Given the description of an element on the screen output the (x, y) to click on. 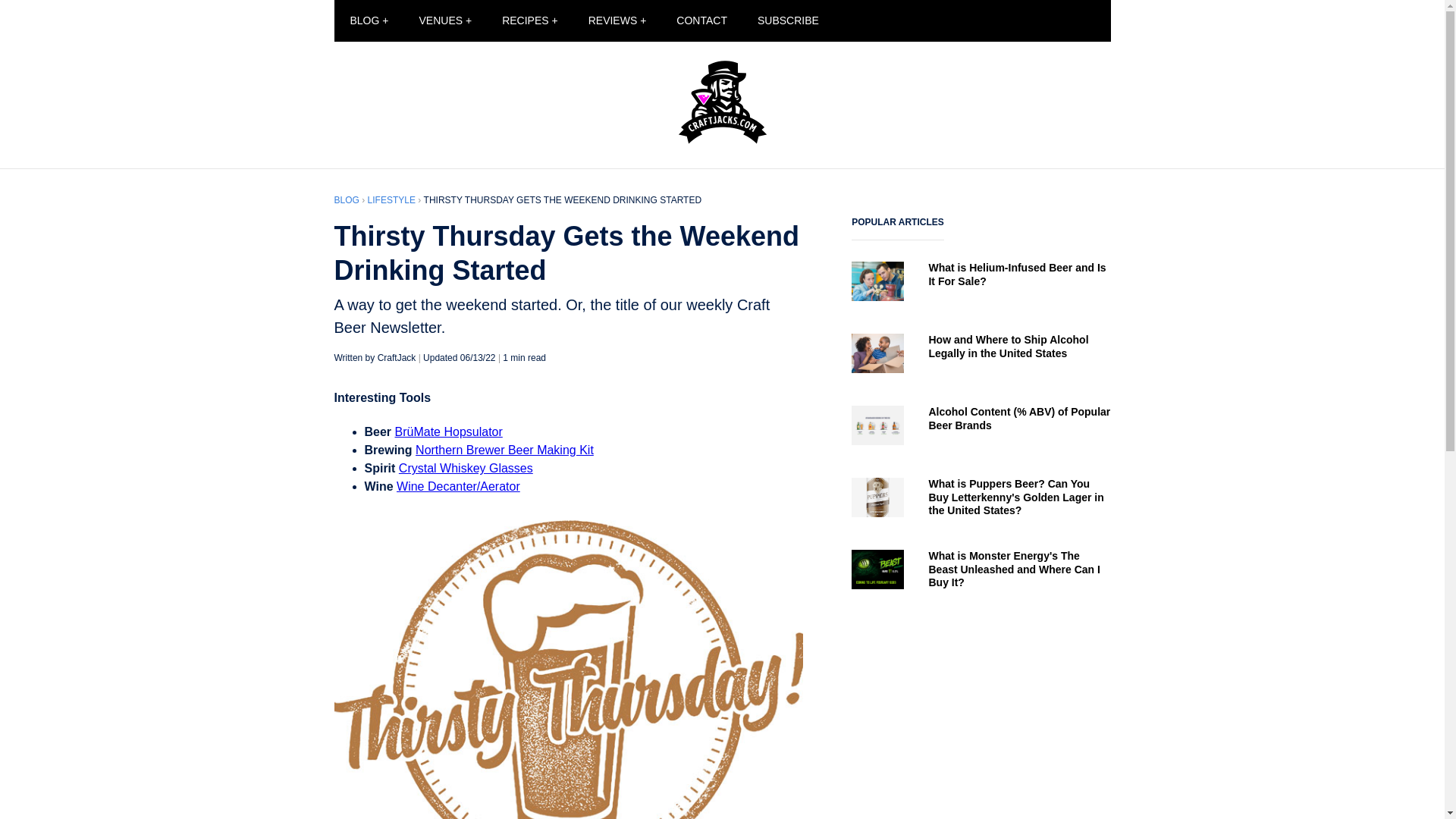
Northern Brewer Beer Making Kit (504, 449)
BLOG (345, 199)
SUBSCRIBE (788, 20)
REVIEWS (617, 20)
LIFESTYLE (391, 199)
BLOG (369, 20)
How and Where to Ship Alcohol Legally in the United States (980, 357)
CONTACT (701, 20)
VENUES (444, 20)
